Given the description of an element on the screen output the (x, y) to click on. 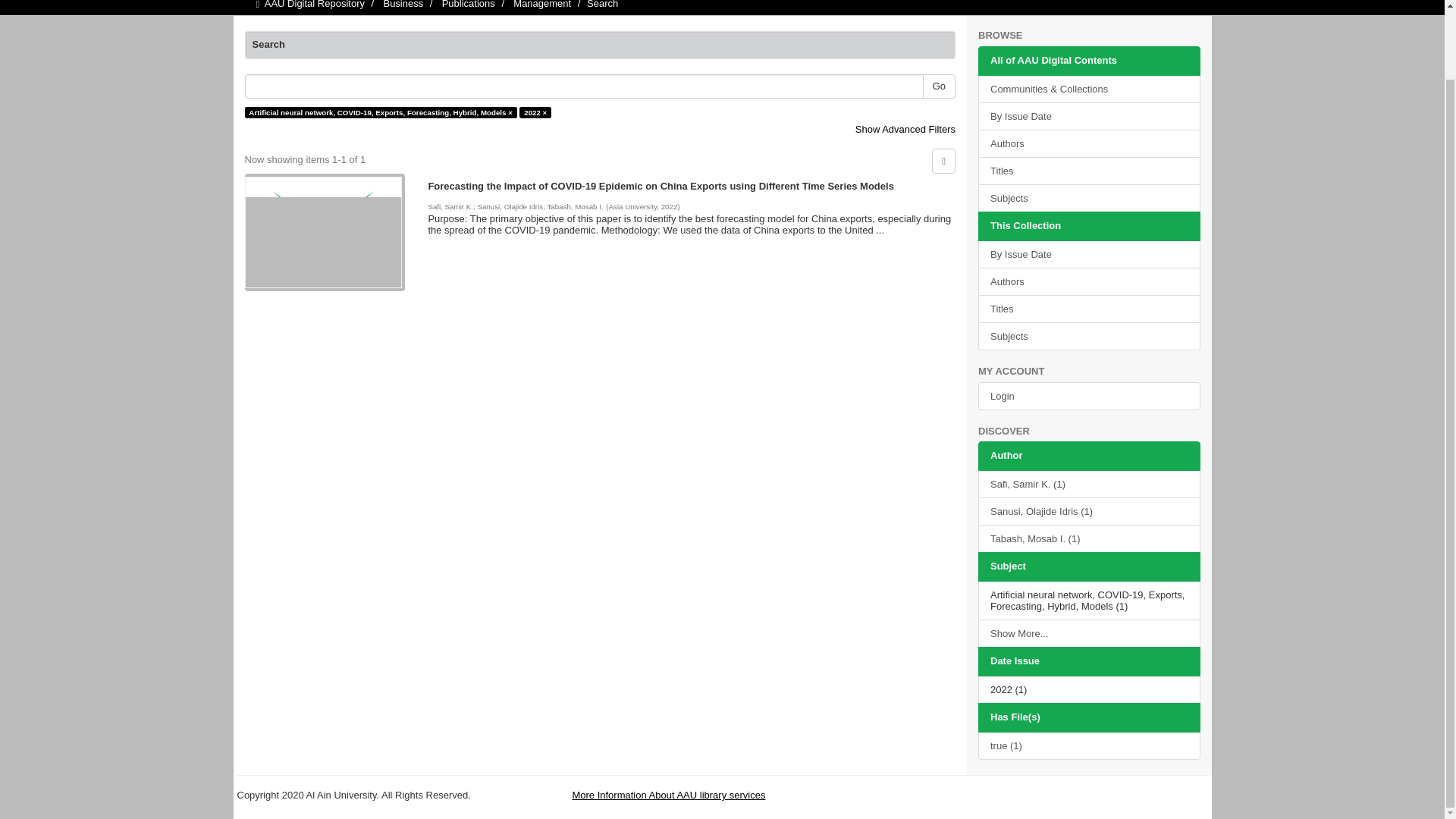
Go (939, 86)
Business (402, 4)
Management (541, 4)
AAU Digital Repository (314, 4)
Publications (468, 4)
Show Advanced Filters (905, 129)
